Given the description of an element on the screen output the (x, y) to click on. 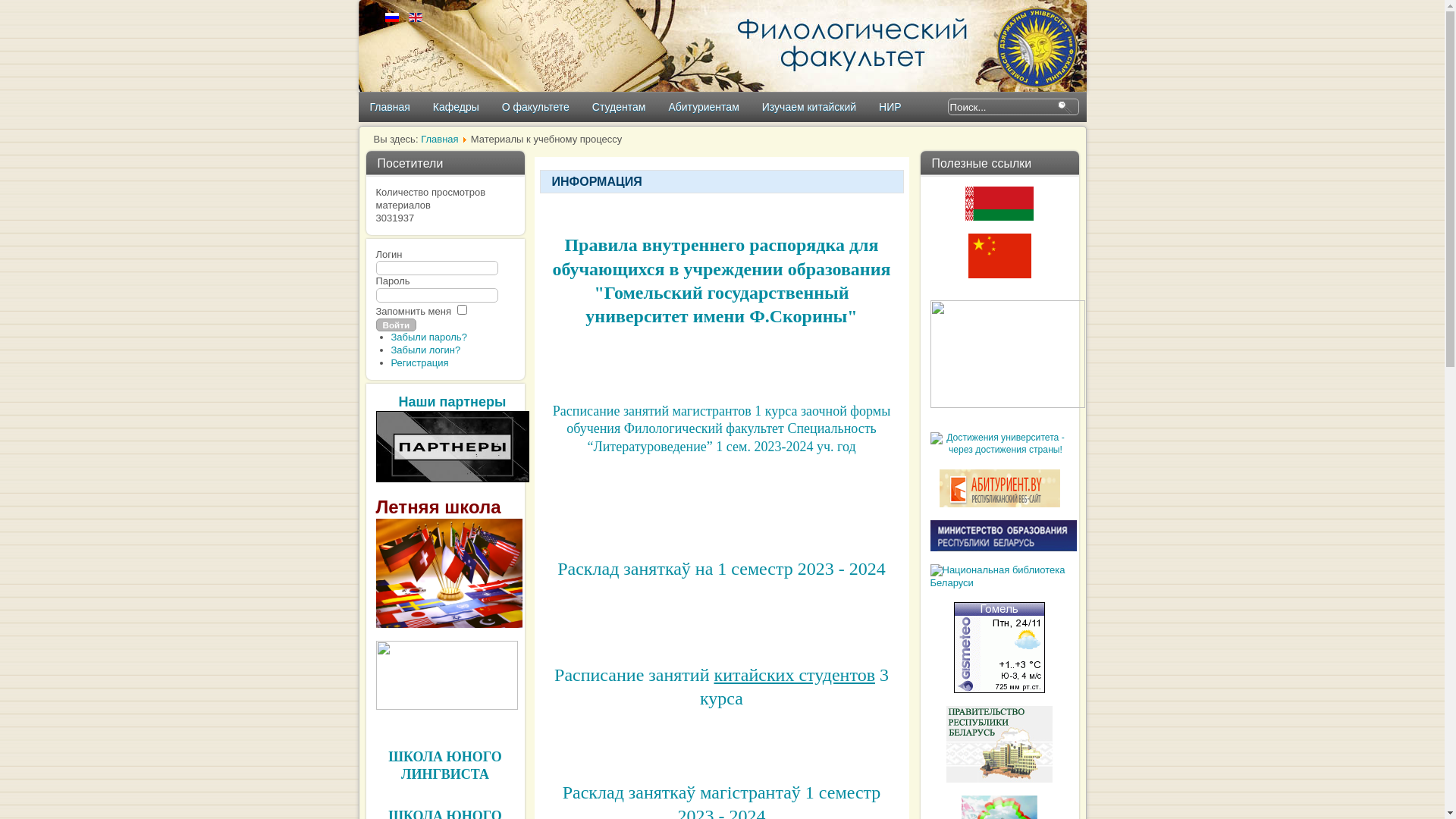
" Element type: text (851, 316)
English (UK) Element type: hover (415, 16)
  Element type: text (377, 487)
